Given the description of an element on the screen output the (x, y) to click on. 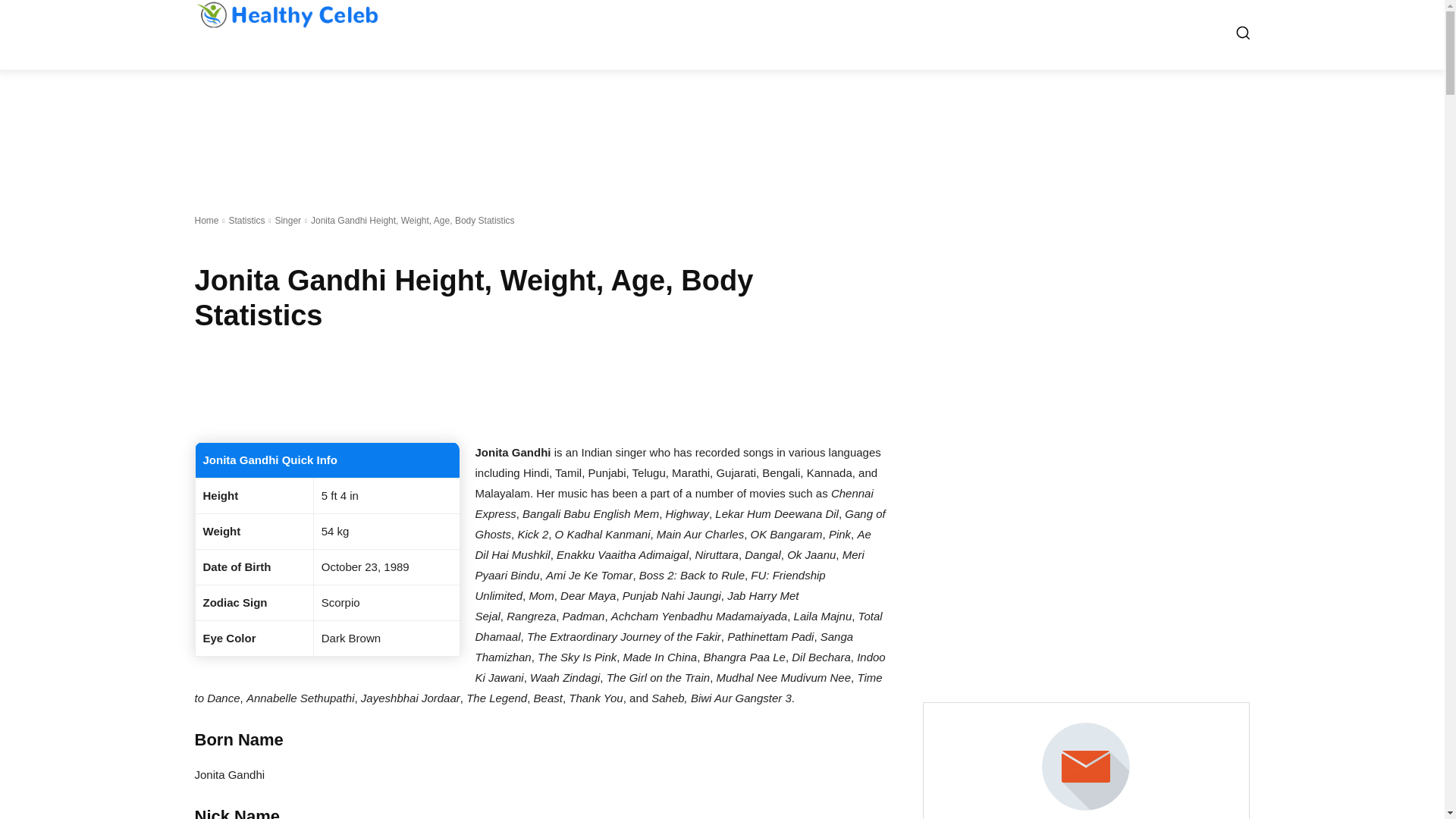
Healthy Celeb (285, 14)
View all posts in Statistics (246, 220)
